Given the description of an element on the screen output the (x, y) to click on. 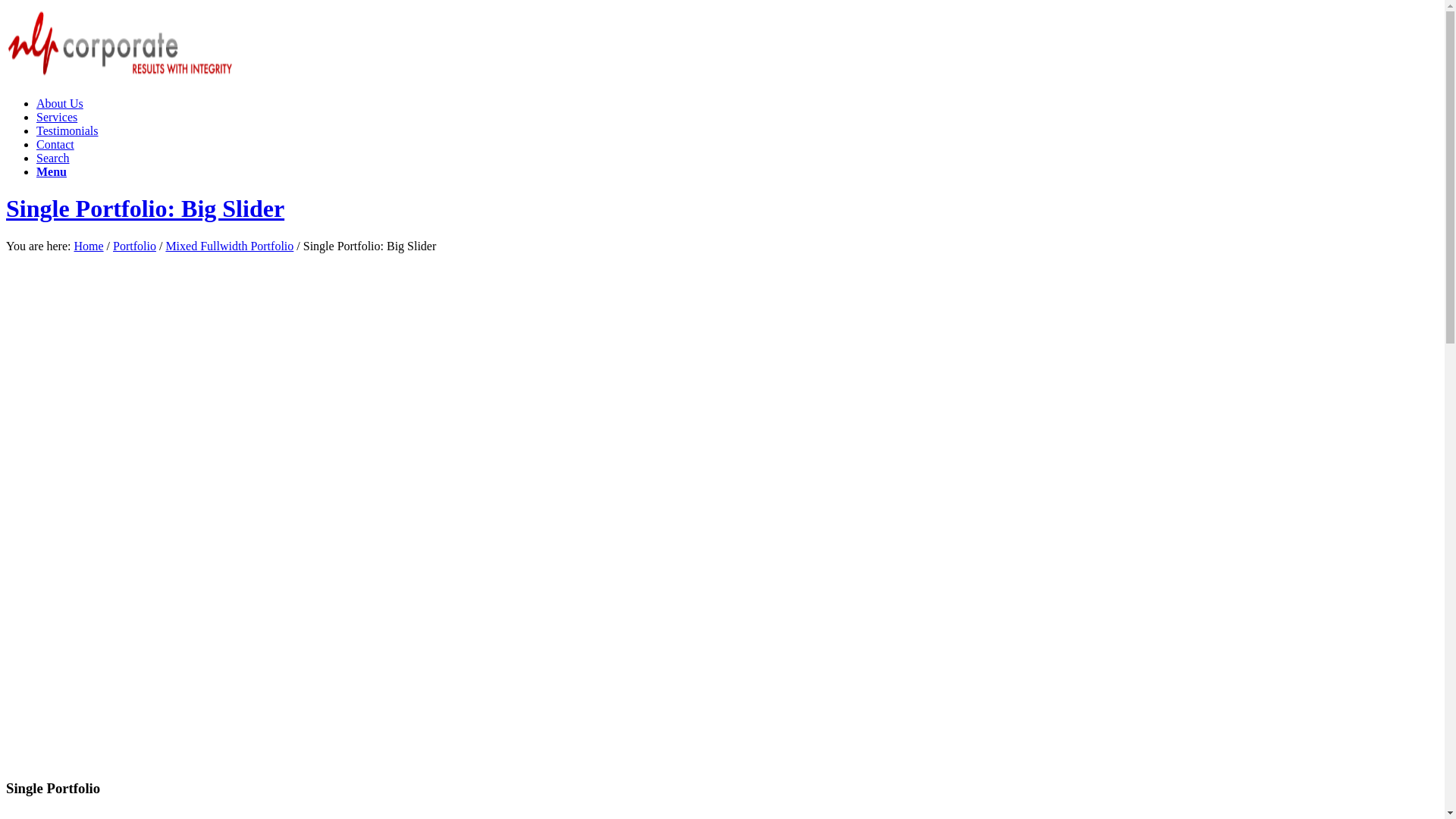
About Us Element type: text (59, 103)
Services Element type: text (56, 116)
Portfolio Element type: text (134, 245)
Contact Element type: text (55, 144)
Menu Element type: text (51, 171)
Testimonials Element type: text (67, 130)
Home Element type: text (88, 245)
Search Element type: text (52, 157)
Single Portfolio: Big Slider Element type: text (145, 208)
Mixed Fullwidth Portfolio Element type: text (229, 245)
